Given the description of an element on the screen output the (x, y) to click on. 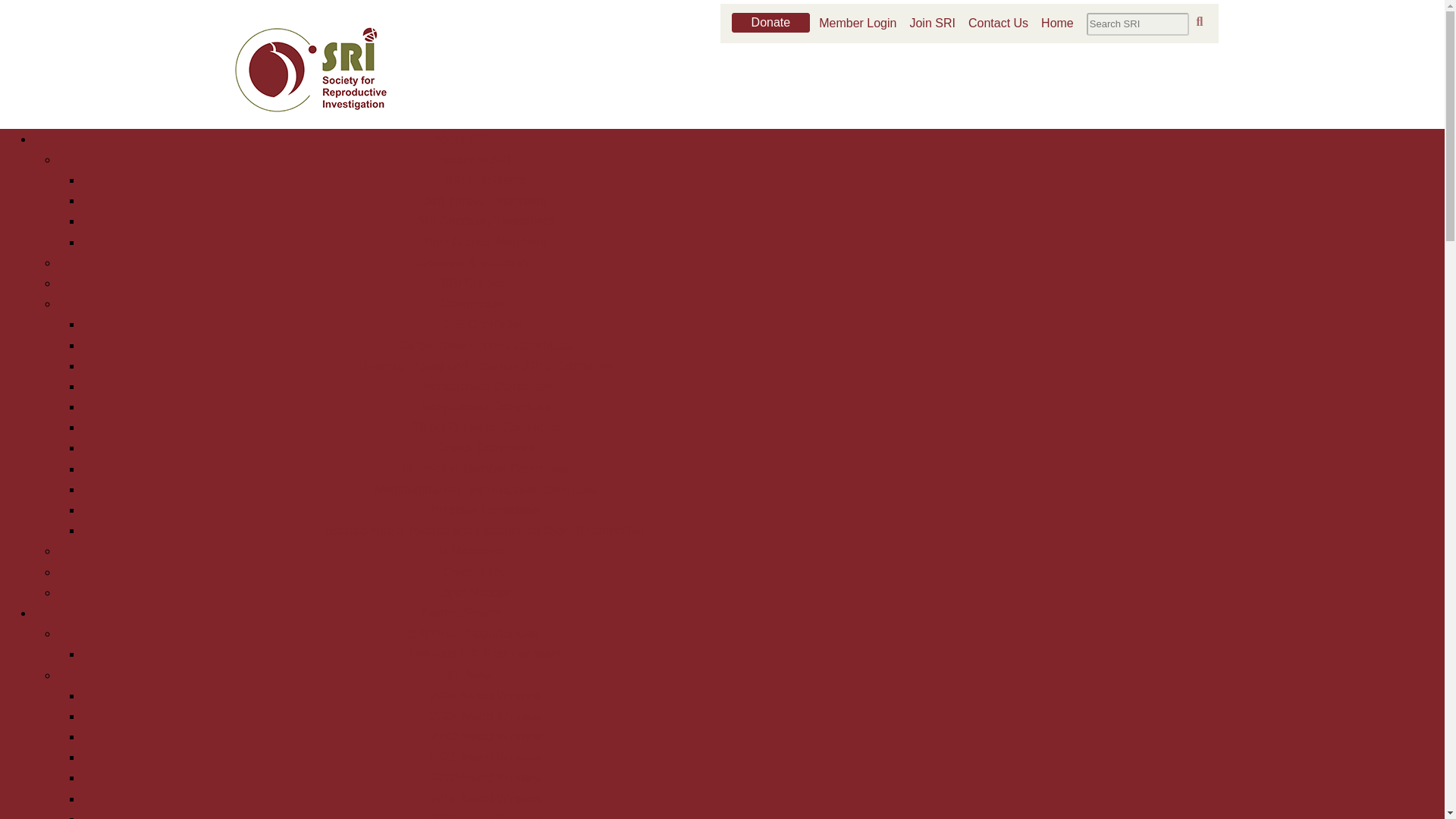
SRI Council (473, 282)
In Memoriam (473, 550)
Donate (771, 22)
History of SRI (473, 159)
Global Outreach Committee (485, 427)
Development Committee (485, 386)
Early Career Committee (485, 406)
Contact Us (473, 571)
SRI Secretary Treasurers (485, 220)
SRI Awards (473, 675)
Member Login (863, 22)
SRI Presidents (485, 179)
2019 Award Winners (485, 777)
Past Council Members (486, 241)
2022 Award Winners (485, 736)
